Given the description of an element on the screen output the (x, y) to click on. 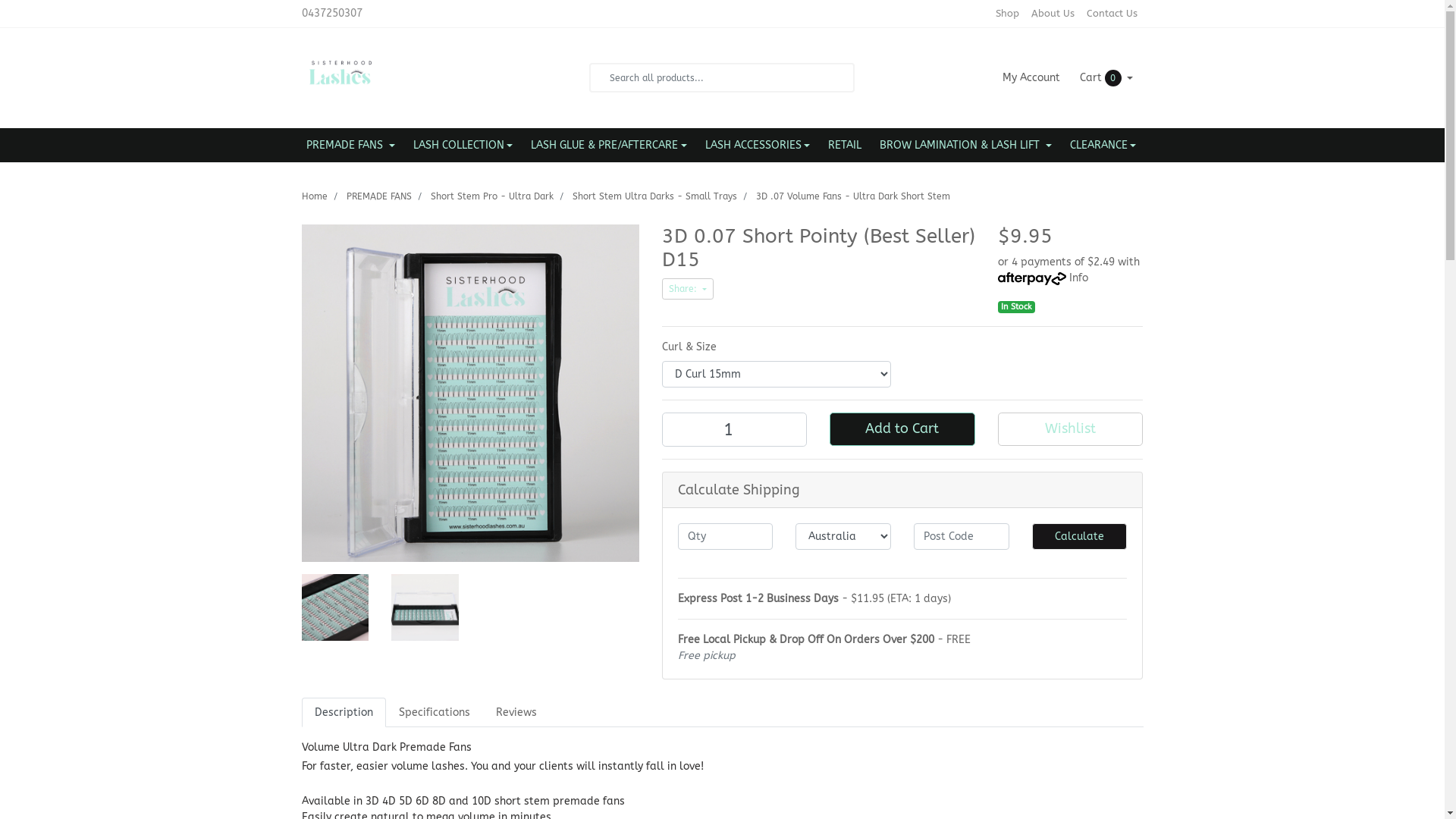
Specifications Element type: text (433, 712)
PREMADE FANS Element type: text (350, 144)
Calculate Element type: text (1079, 536)
CLEARANCE Element type: text (1102, 144)
PREMADE FANS Element type: text (378, 196)
3D .07 Volume Fans - Ultra Dark Short Stem Element type: text (852, 196)
0437250307 Element type: text (349, 13)
Search Element type: text (599, 77)
Wishlist Element type: text (1070, 428)
Description Element type: text (343, 712)
LASH GLUE & PRE/AFTERCARE Element type: text (608, 144)
Add to Cart Element type: text (902, 428)
Contact Us Element type: text (1110, 13)
About Us Element type: text (1052, 13)
Info Element type: text (1078, 277)
Short Stem Ultra Darks - Small Trays Element type: text (653, 196)
LASH COLLECTION Element type: text (463, 144)
Short Stem Pro - Ultra Dark Element type: text (491, 196)
Skip to main content Element type: text (0, 0)
Reviews Element type: text (515, 712)
Home Element type: text (314, 196)
LASH ACCESSORIES Element type: text (757, 144)
RETAIL Element type: text (844, 144)
BROW LAMINATION & LASH LIFT Element type: text (965, 144)
Shop Element type: text (1006, 13)
My Account Element type: text (1031, 77)
Sisterhood Lashes  Element type: hover (339, 76)
Cart 0 Element type: text (1106, 77)
Share: Element type: text (686, 287)
